Given the description of an element on the screen output the (x, y) to click on. 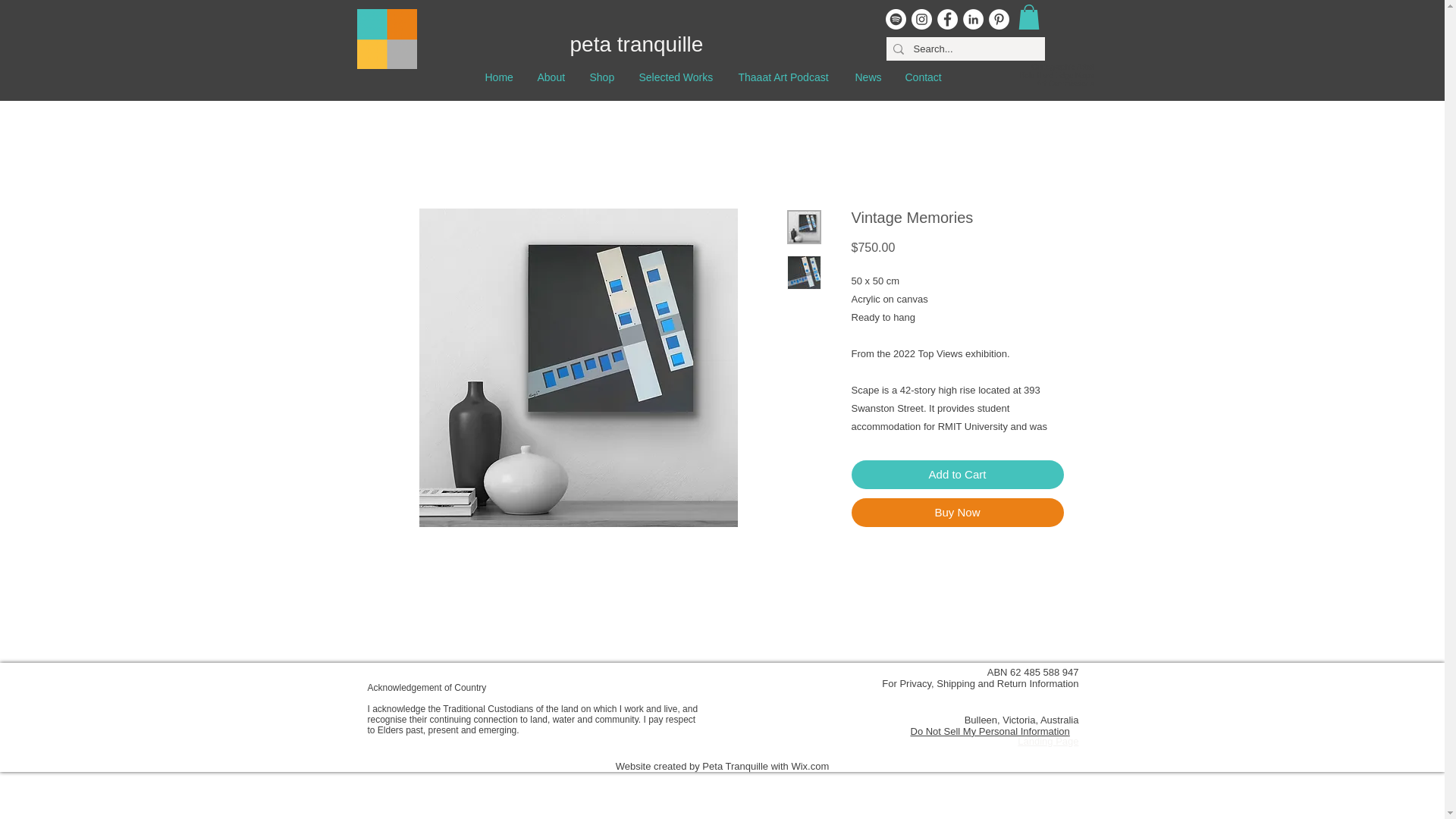
Home (498, 77)
Shop (602, 77)
Selected Works (675, 77)
Contact (924, 77)
About (550, 77)
Thaaat Art Podcast (784, 77)
Do Not Sell My Personal Information (989, 731)
Buy Now (956, 512)
News (868, 77)
Add to Cart (956, 474)
For Privacy, Shipping and Return Information (980, 683)
Landing Page (1047, 740)
